Given the description of an element on the screen output the (x, y) to click on. 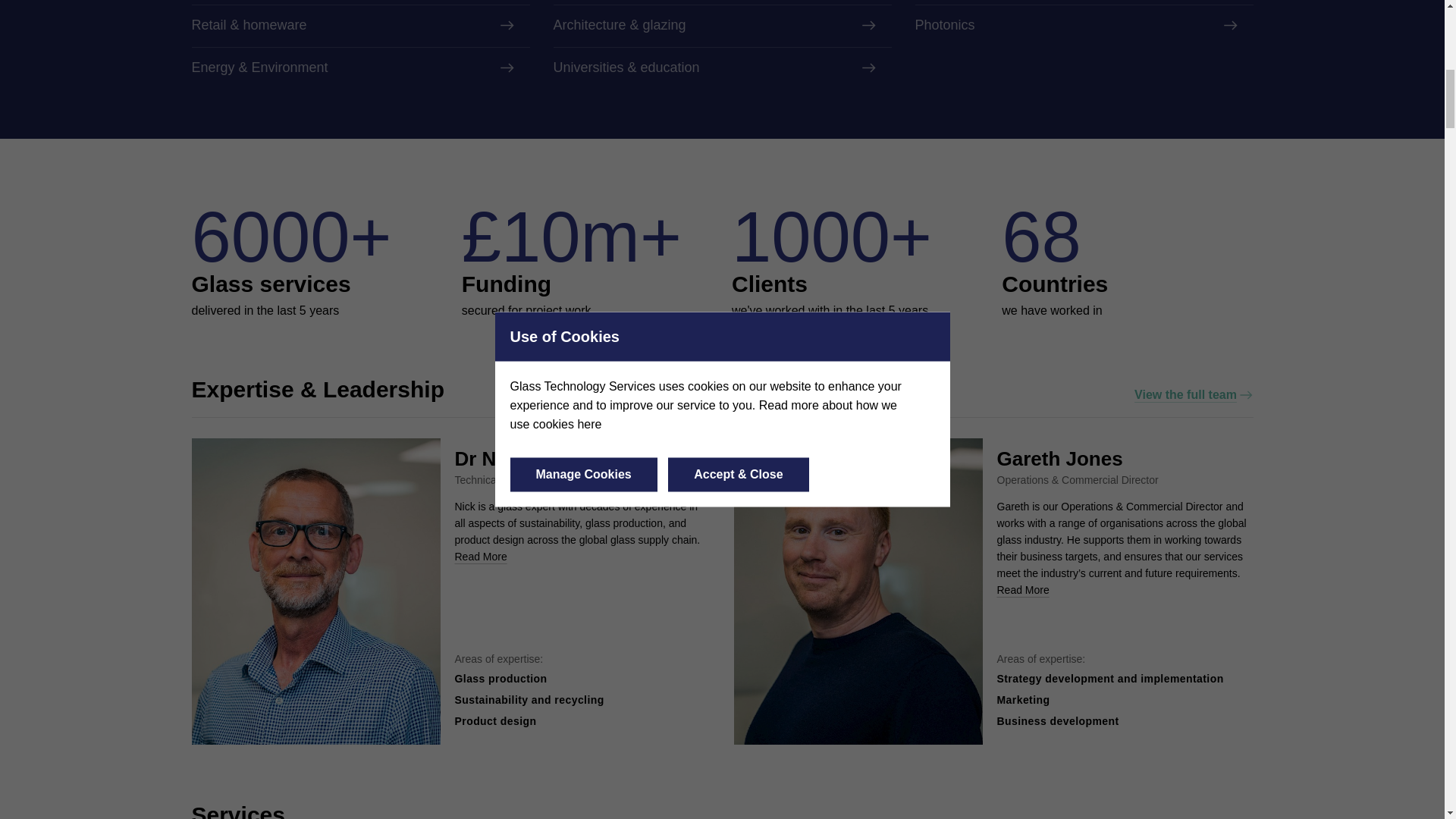
Read More (480, 556)
Dr Nick Kirk (510, 458)
Read More (1021, 589)
Glass manufacturing (359, 2)
View the full team (1193, 394)
All services (1211, 818)
Photonics (1083, 25)
Gareth Jones (1058, 458)
